Given the description of an element on the screen output the (x, y) to click on. 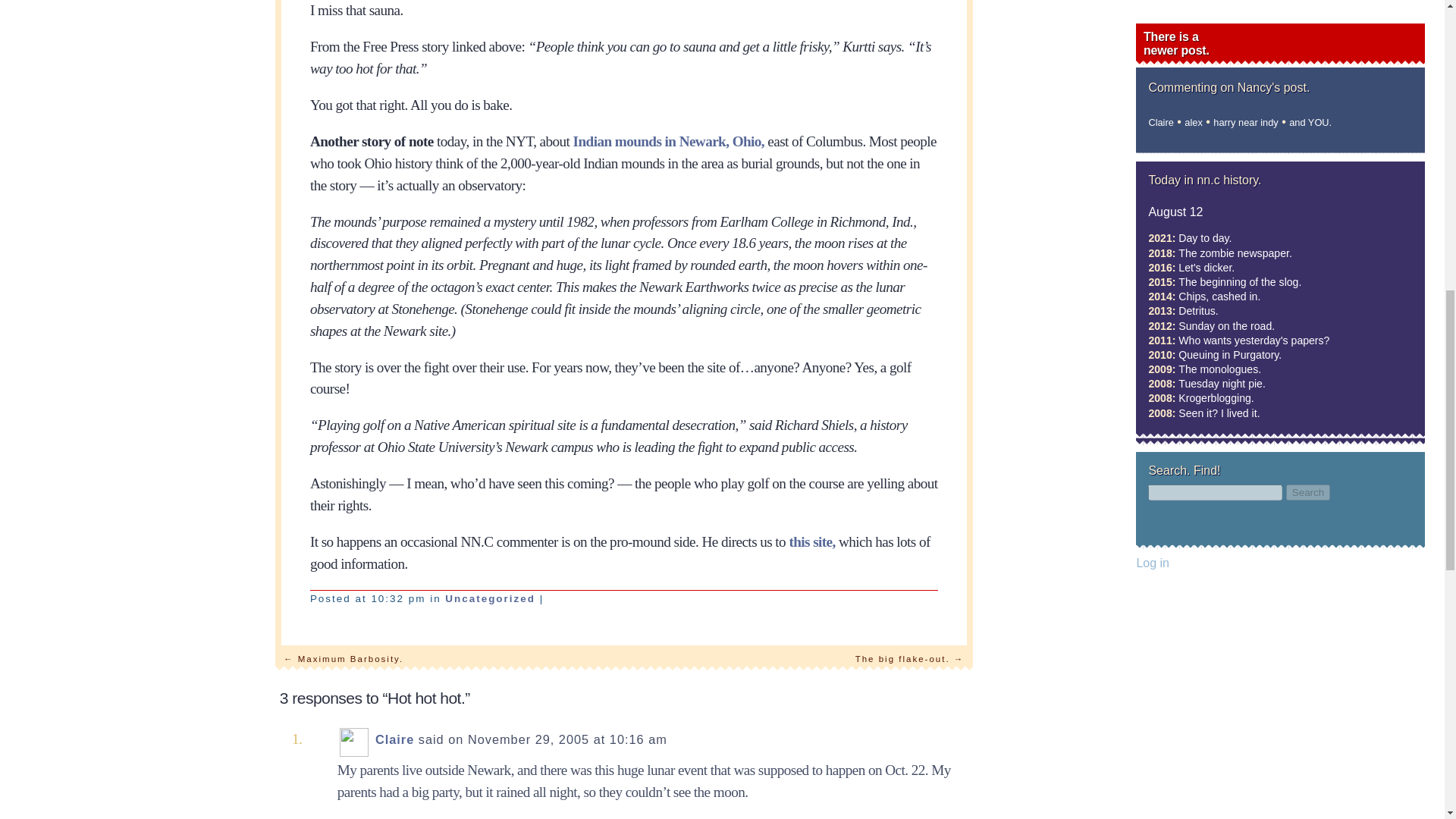
Indian mounds in Newark, Ohio, (669, 141)
Claire (394, 739)
Uncategorized (490, 598)
this site, (811, 541)
